Given the description of an element on the screen output the (x, y) to click on. 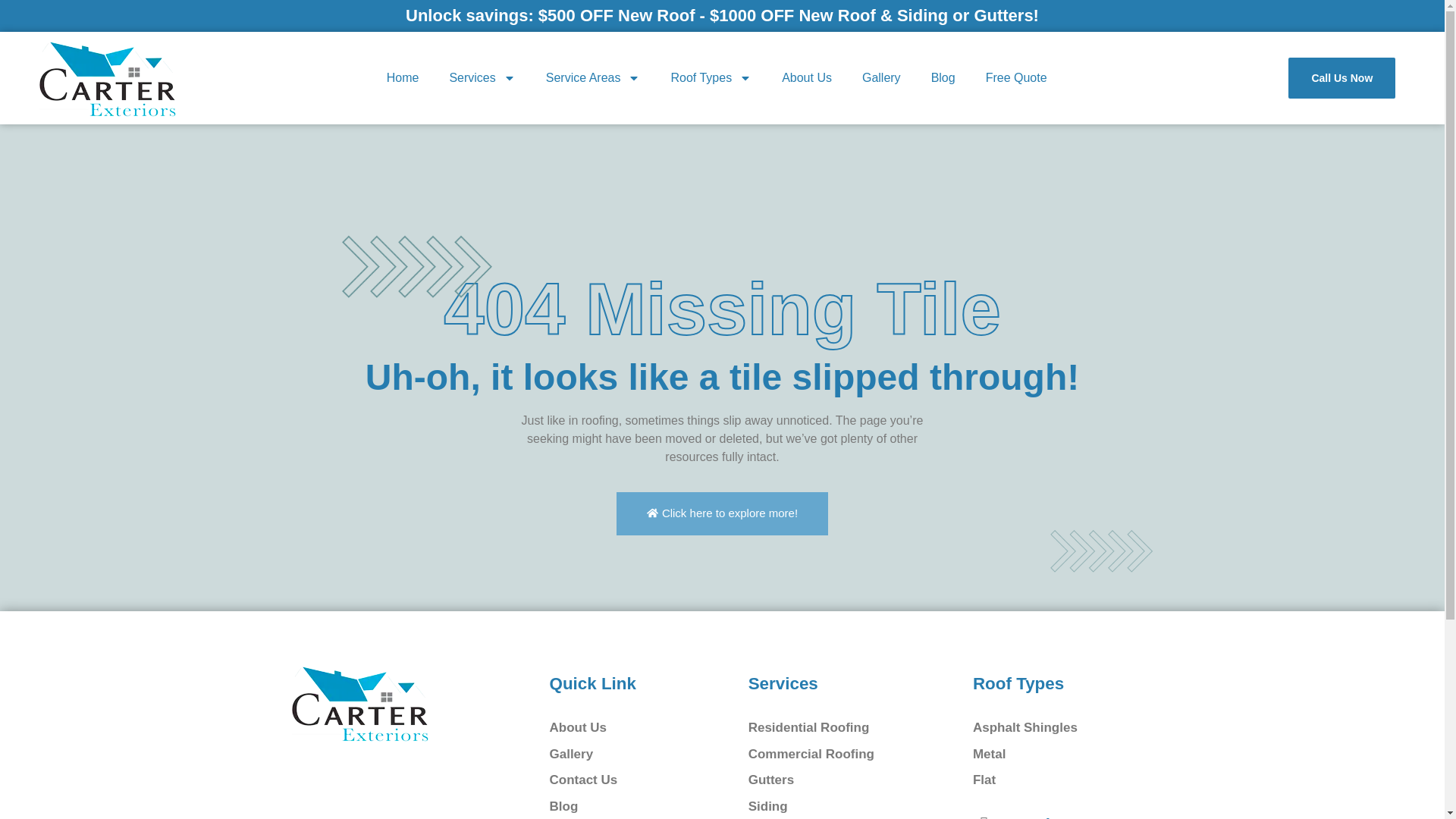
Services (481, 77)
Service Areas (593, 77)
Roof Types (711, 77)
About Us (807, 77)
Blog (943, 77)
Home (402, 77)
Free Quote (1016, 77)
Gallery (881, 77)
